Given the description of an element on the screen output the (x, y) to click on. 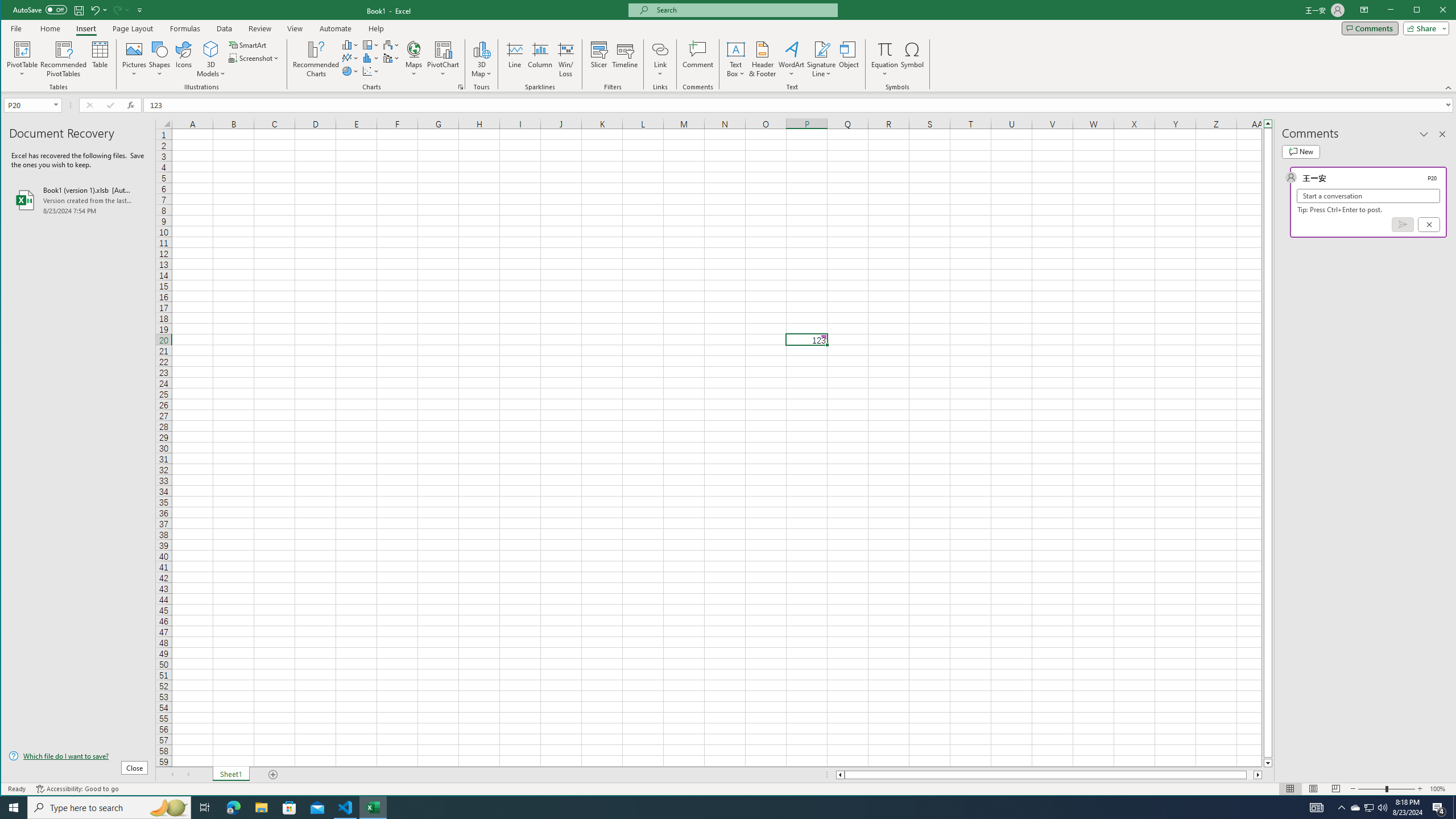
Microsoft Store (289, 807)
PivotTable (22, 59)
Win/Loss (565, 59)
Which file do I want to save? (78, 755)
WordArt (791, 59)
Show desktop (1454, 807)
Start a conversation (1368, 195)
Header & Footer... (762, 59)
Equation (884, 48)
